Given the description of an element on the screen output the (x, y) to click on. 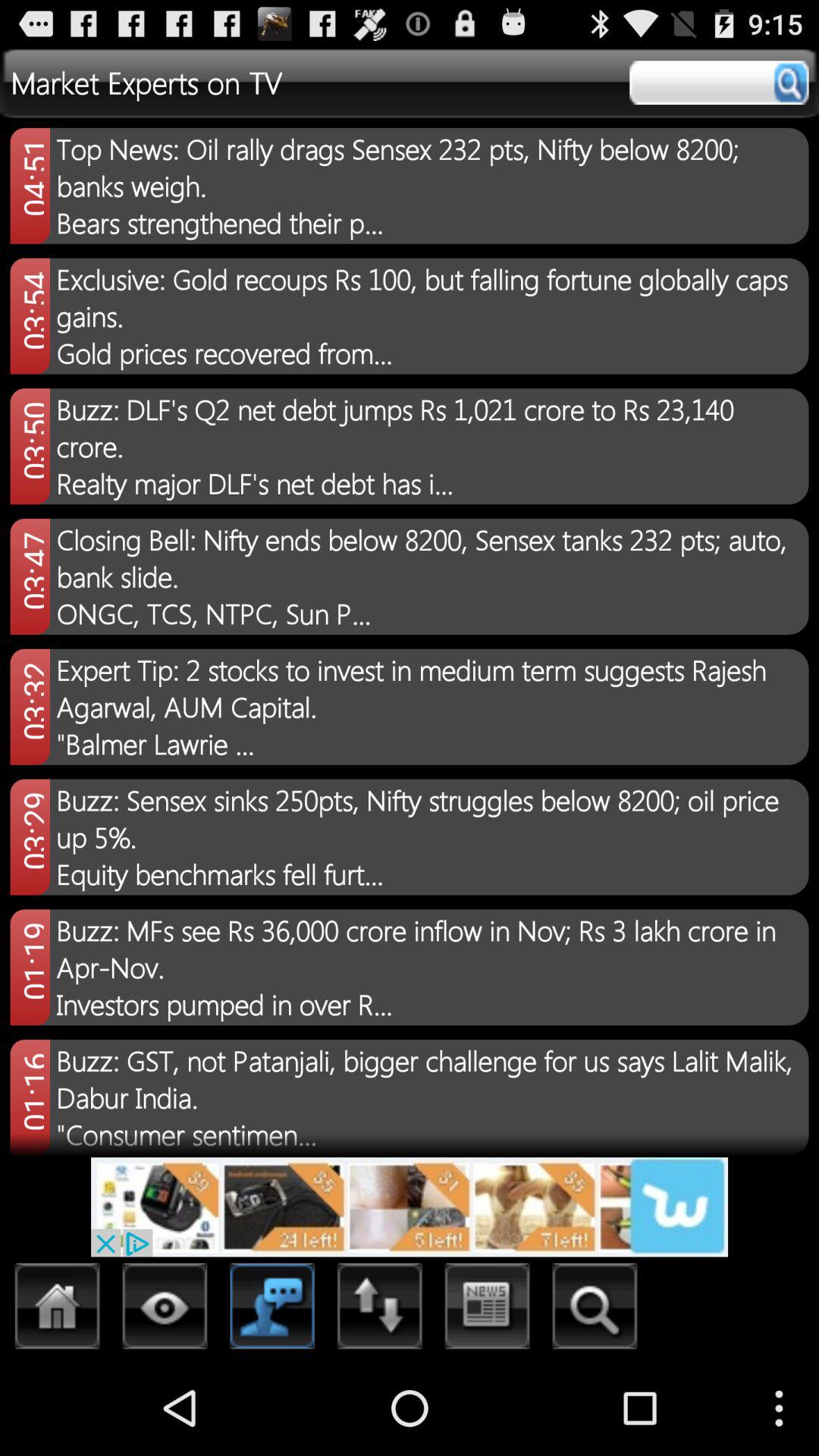
search box (718, 82)
